Given the description of an element on the screen output the (x, y) to click on. 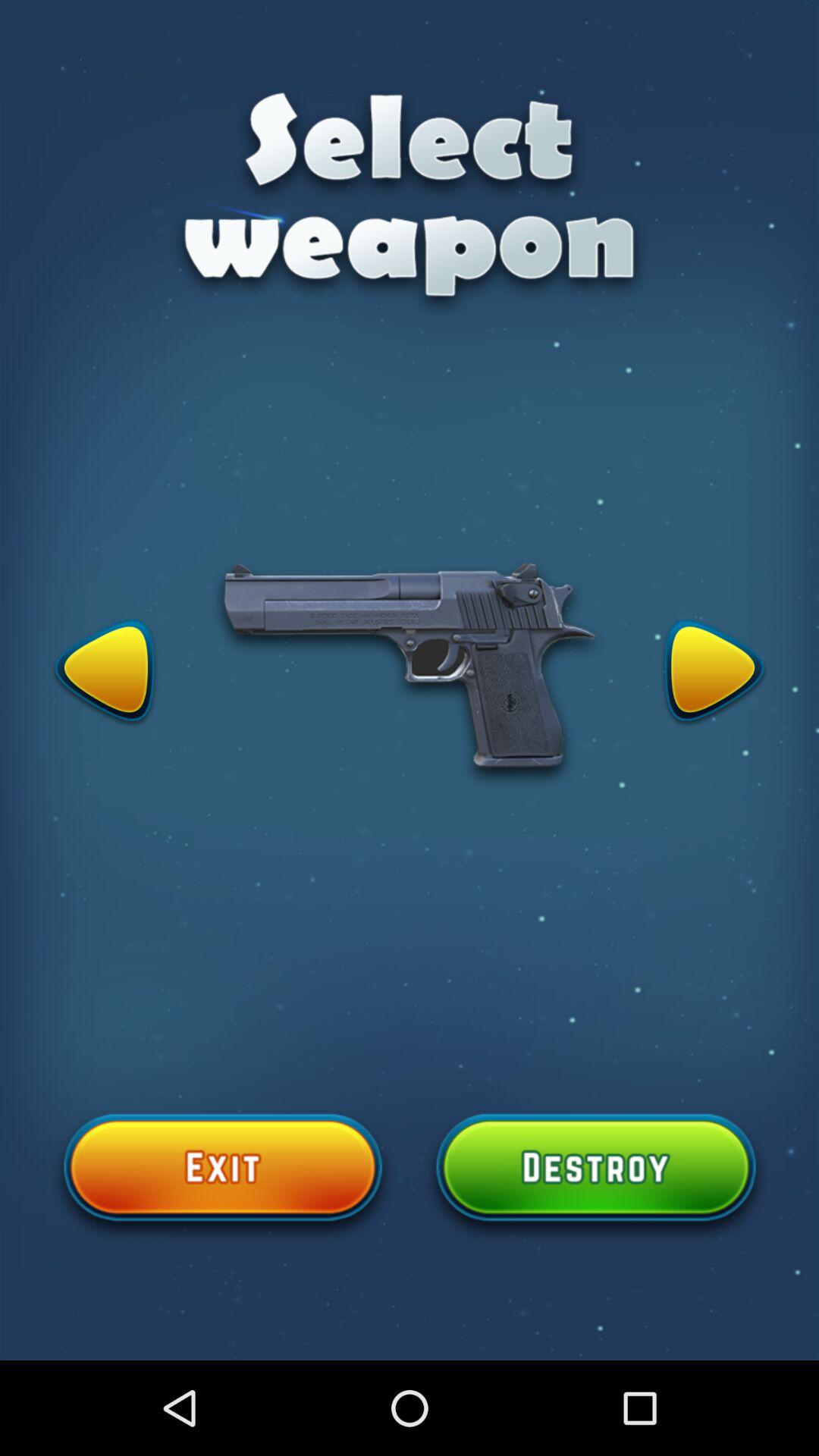
exit select weapon page (222, 1176)
